Given the description of an element on the screen output the (x, y) to click on. 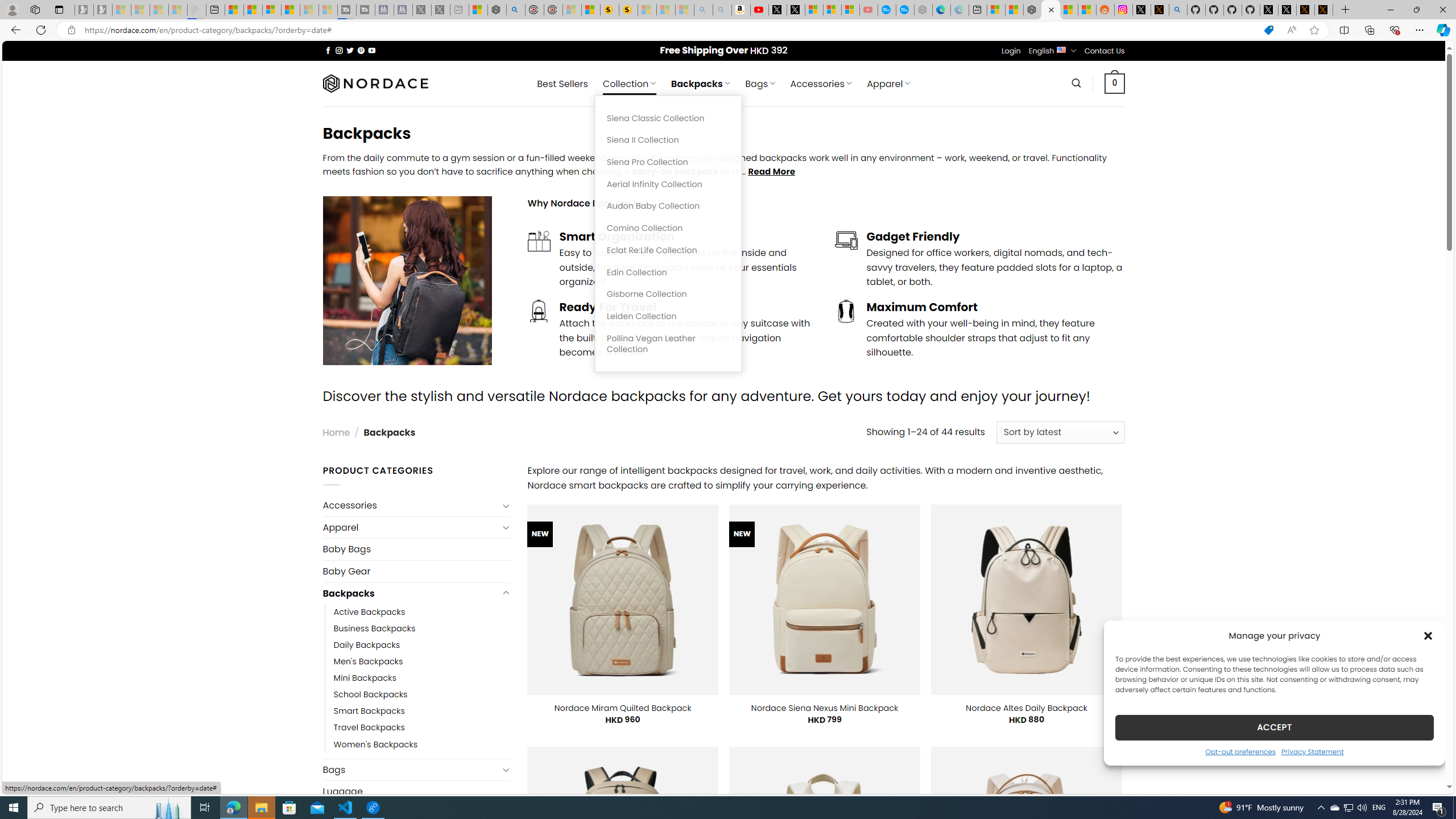
Siena II Collection (668, 140)
 Best Sellers (562, 83)
Restore (1416, 9)
Log in to X / X (1142, 9)
Women's Backpacks (422, 744)
School Backpacks (370, 694)
Gloom - YouTube - Sleeping (868, 9)
Men's Backpacks (422, 661)
 0  (1115, 83)
Shop order (1060, 432)
Overview (271, 9)
